Given the description of an element on the screen output the (x, y) to click on. 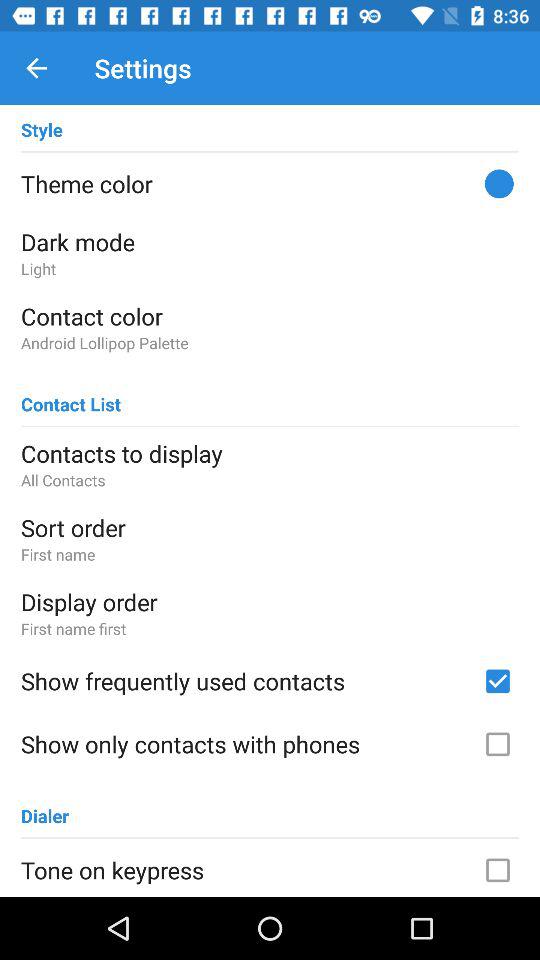
select item below the dark mode (270, 268)
